Given the description of an element on the screen output the (x, y) to click on. 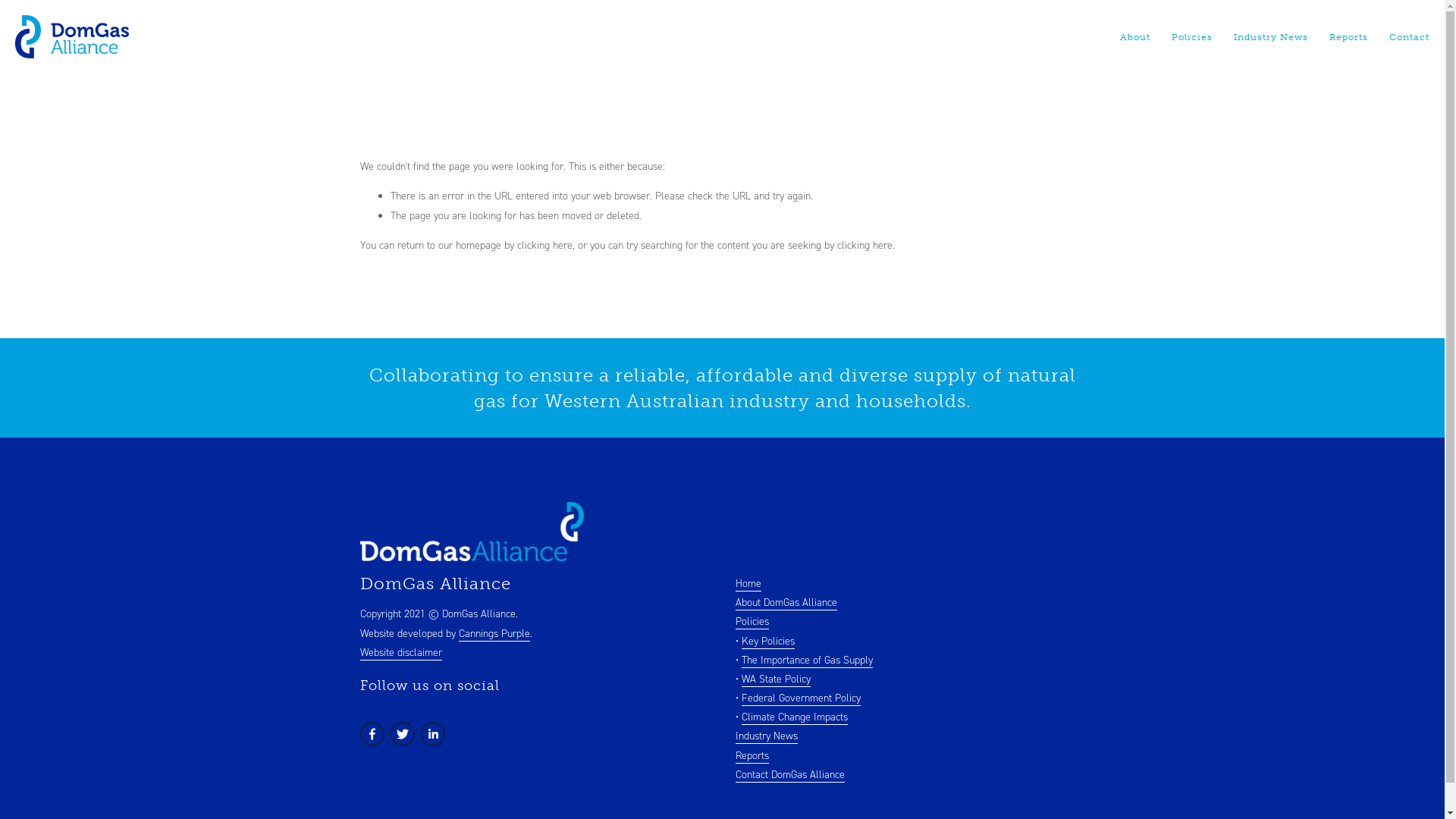
Website disclaimer Element type: text (400, 652)
Industry News Element type: text (766, 735)
Key Policies Element type: text (767, 641)
About Element type: text (1134, 36)
clicking here Element type: text (864, 245)
WA State Policy Element type: text (775, 679)
Home Element type: text (748, 583)
clicking here Element type: text (544, 245)
Cannings Purple Element type: text (493, 633)
Industry News Element type: text (1270, 36)
Climate Change Impacts Element type: text (794, 716)
Reports Element type: text (751, 755)
The Importance of Gas Supply Element type: text (806, 660)
Federal Government Policy Element type: text (800, 698)
Contact DomGas Alliance Element type: text (789, 774)
Reports Element type: text (1348, 36)
About DomGas Alliance Element type: text (786, 602)
Policies Element type: text (751, 621)
Contact Element type: text (1404, 36)
